Given the description of an element on the screen output the (x, y) to click on. 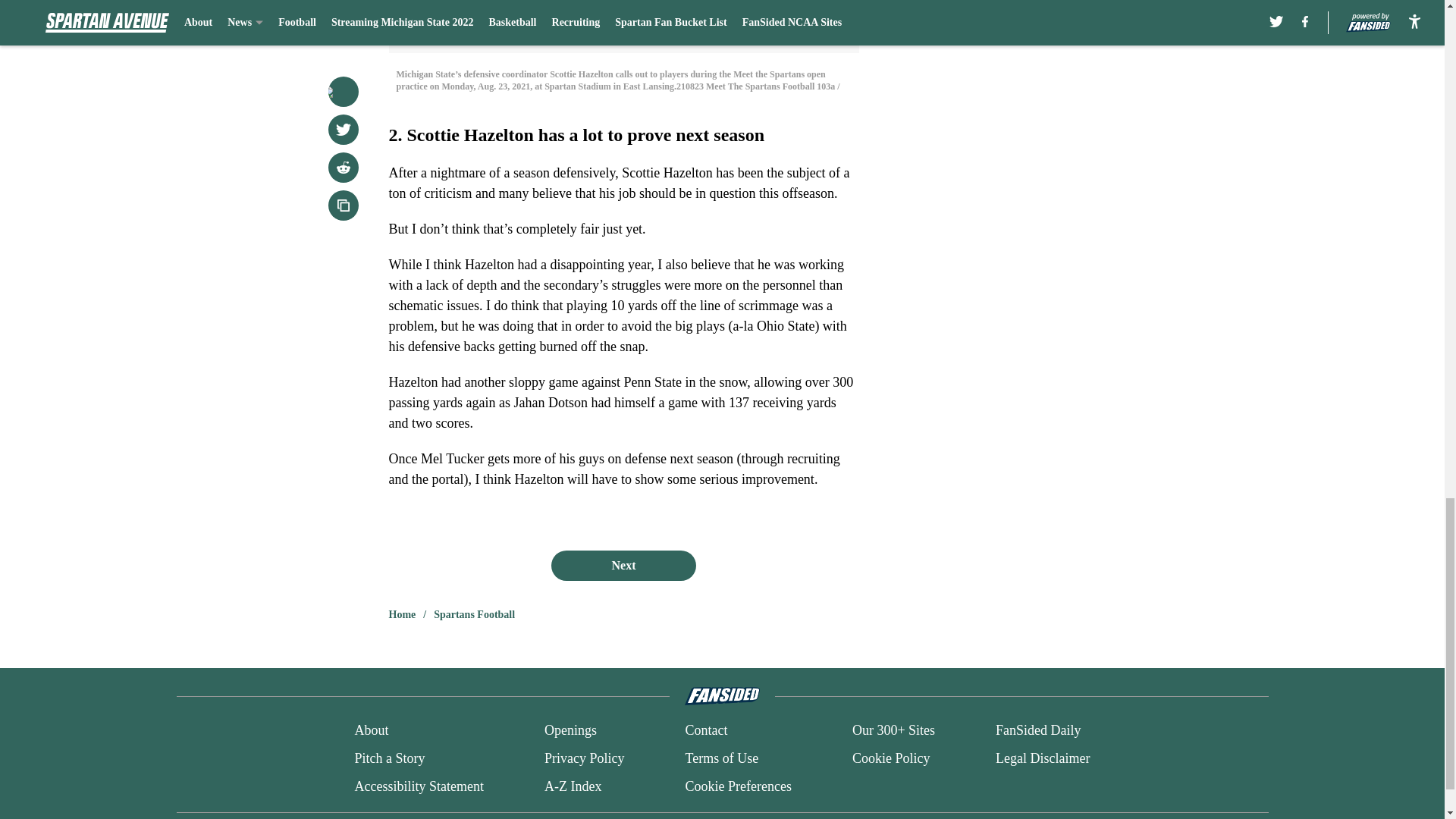
Home (401, 614)
Privacy Policy (584, 758)
FanSided Daily (1038, 730)
Contact (705, 730)
Next (622, 565)
Spartans Football (474, 614)
Openings (570, 730)
About (370, 730)
Pitch a Story (389, 758)
